Given the description of an element on the screen output the (x, y) to click on. 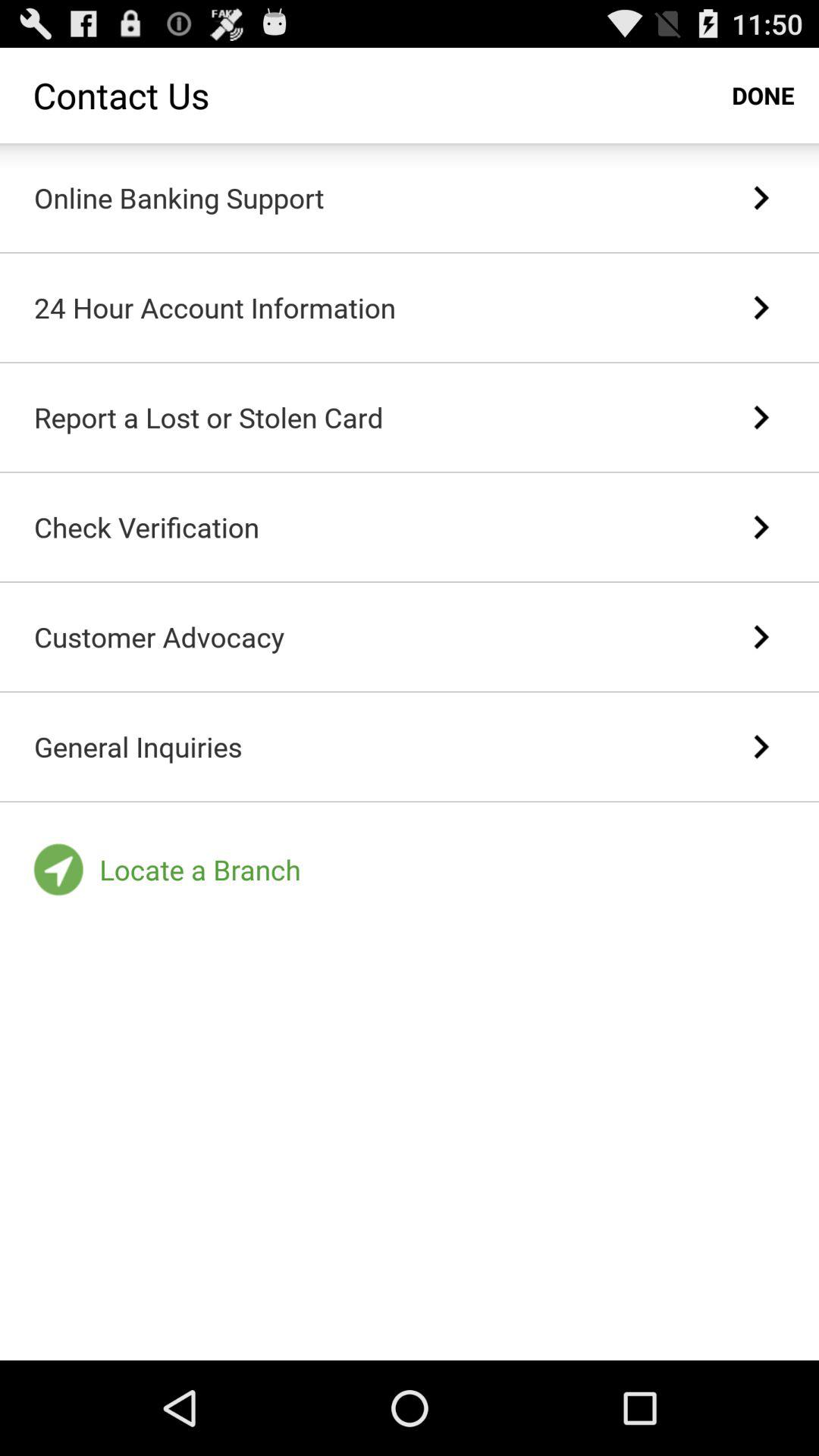
click the icon next to the check verification (760, 526)
